Given the description of an element on the screen output the (x, y) to click on. 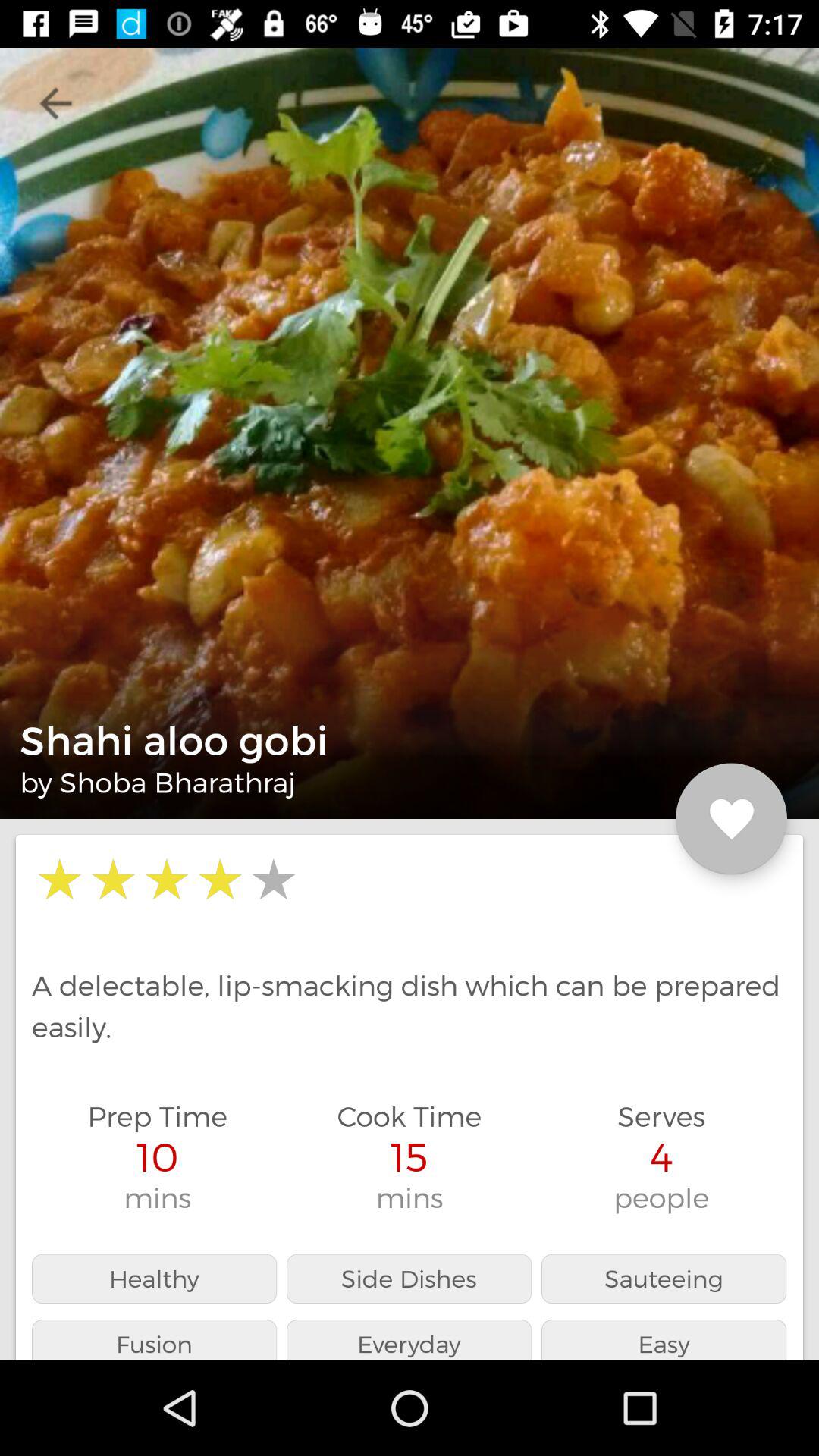
turn off item above the a delectable lip icon (731, 818)
